Given the description of an element on the screen output the (x, y) to click on. 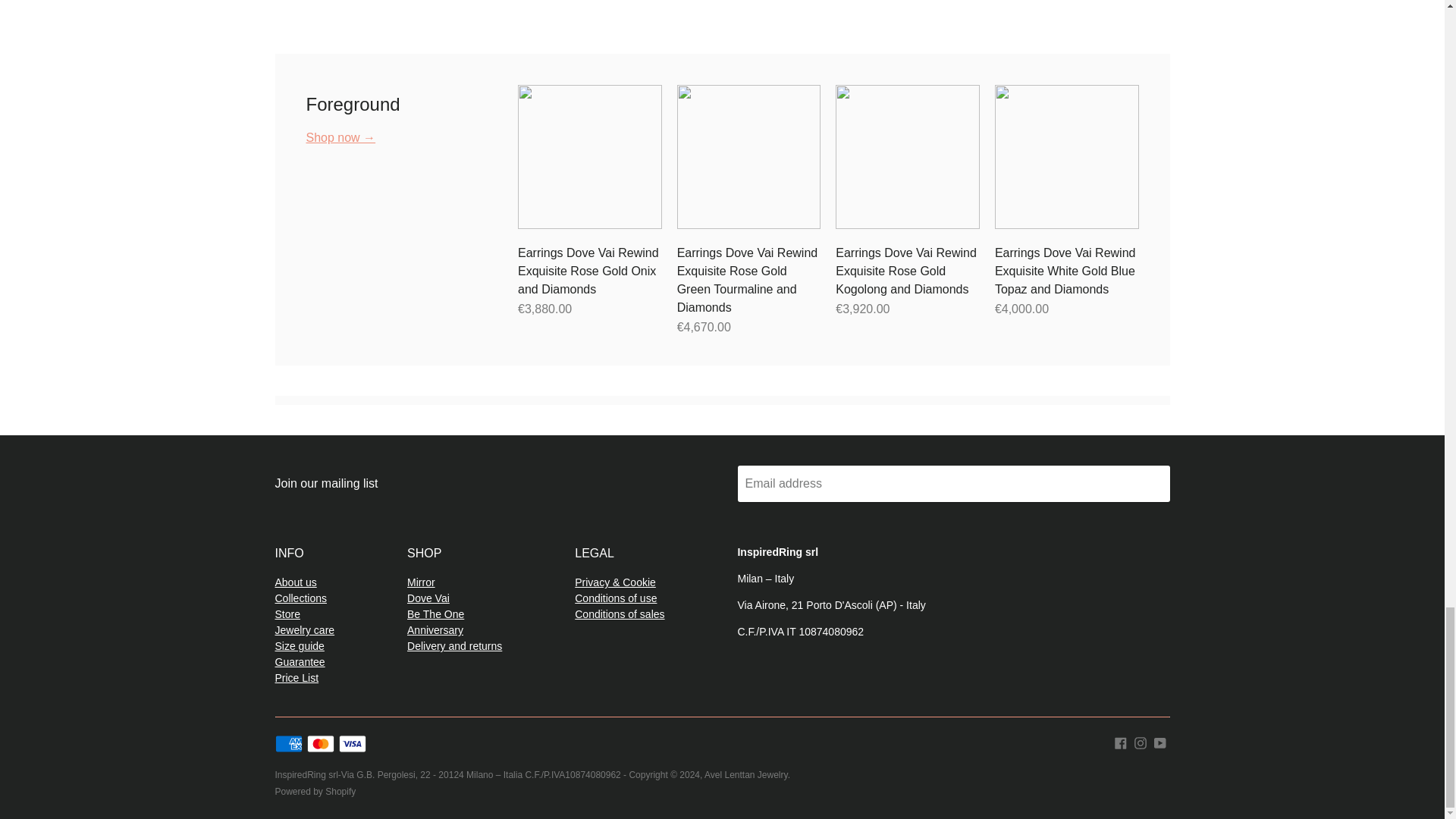
Avel Lenttan Jewelry on Facebook (1120, 741)
Avel Lenttan Jewelry on YouTube (1160, 741)
American Express (288, 743)
Avel Lenttan Jewelry on Instagram (1140, 741)
Visa (352, 743)
Mastercard (320, 743)
